Given the description of an element on the screen output the (x, y) to click on. 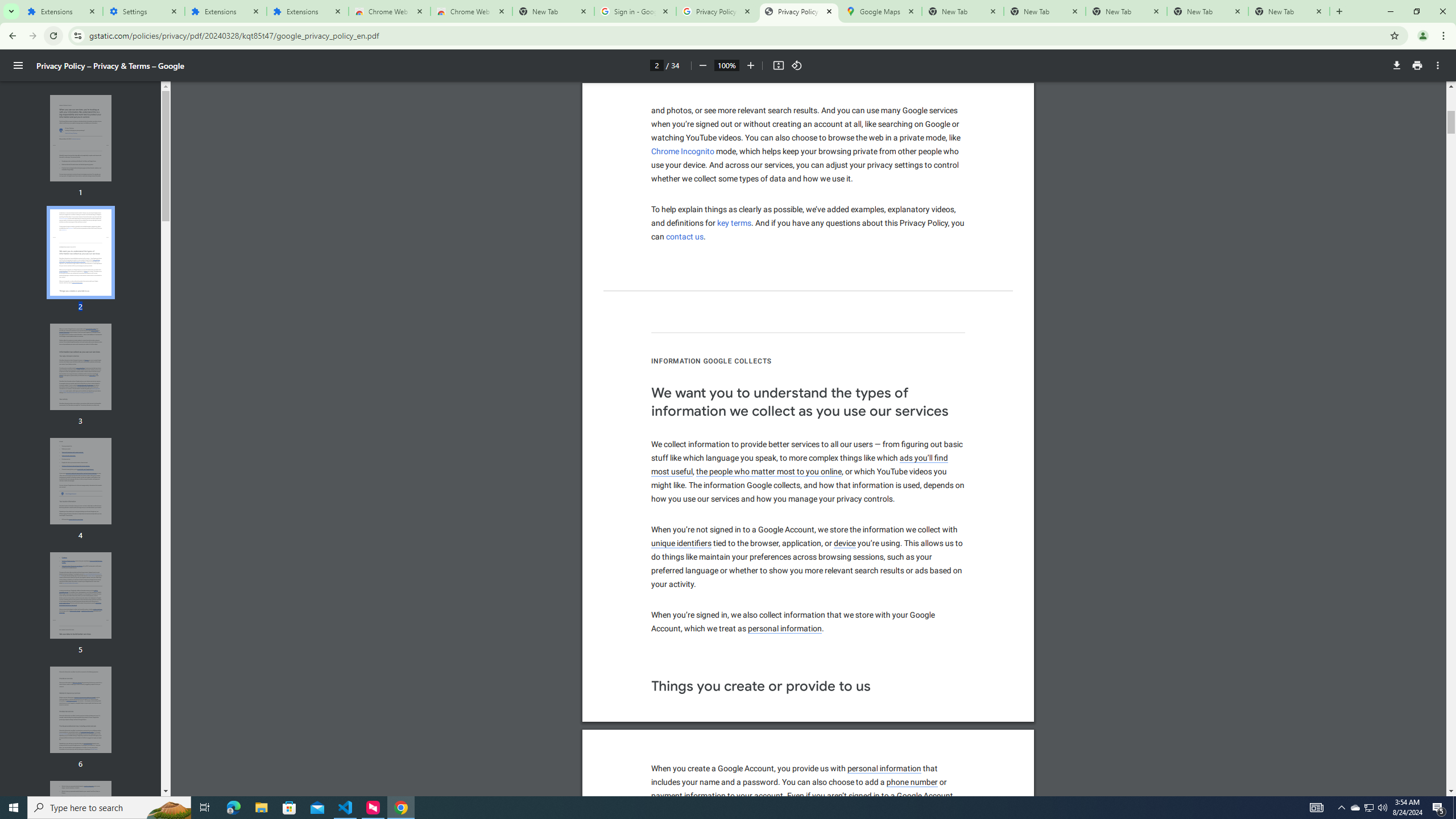
Thumbnail for page 4 (80, 481)
More actions (1437, 65)
phone number (912, 782)
device (845, 543)
Menu (17, 65)
contact us (684, 236)
the people who matter most to you online (769, 471)
Fit to page (777, 65)
Extensions (307, 11)
New Tab (552, 11)
